Given the description of an element on the screen output the (x, y) to click on. 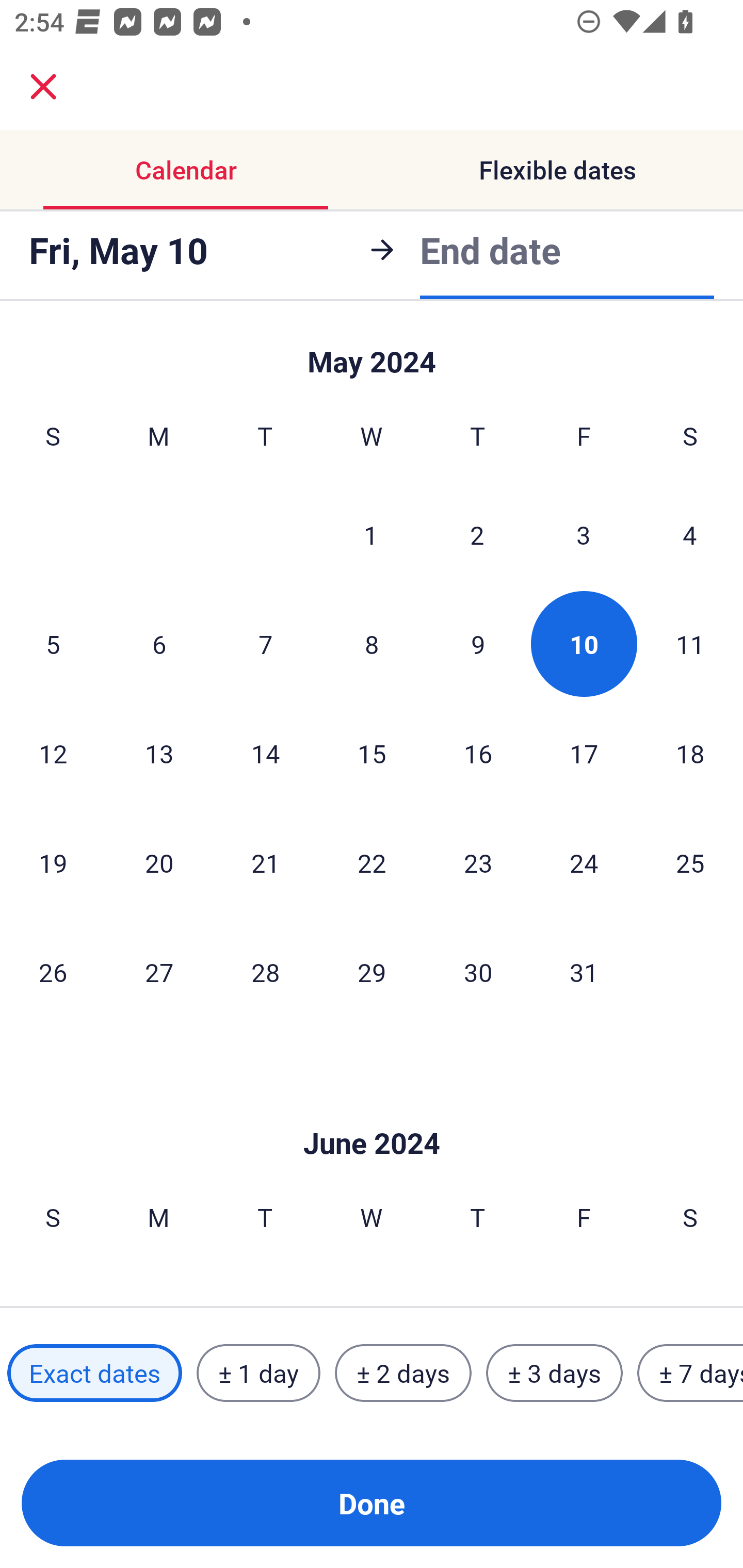
close. (43, 86)
Flexible dates (557, 170)
End date (489, 247)
Skip to Done (371, 352)
1 Wednesday, May 1, 2024 (371, 534)
2 Thursday, May 2, 2024 (477, 534)
3 Friday, May 3, 2024 (583, 534)
4 Saturday, May 4, 2024 (689, 534)
5 Sunday, May 5, 2024 (53, 643)
6 Monday, May 6, 2024 (159, 643)
7 Tuesday, May 7, 2024 (265, 643)
8 Wednesday, May 8, 2024 (371, 643)
9 Thursday, May 9, 2024 (477, 643)
11 Saturday, May 11, 2024 (690, 643)
12 Sunday, May 12, 2024 (53, 752)
13 Monday, May 13, 2024 (159, 752)
14 Tuesday, May 14, 2024 (265, 752)
15 Wednesday, May 15, 2024 (371, 752)
16 Thursday, May 16, 2024 (477, 752)
17 Friday, May 17, 2024 (584, 752)
18 Saturday, May 18, 2024 (690, 752)
19 Sunday, May 19, 2024 (53, 862)
20 Monday, May 20, 2024 (159, 862)
21 Tuesday, May 21, 2024 (265, 862)
22 Wednesday, May 22, 2024 (371, 862)
23 Thursday, May 23, 2024 (477, 862)
24 Friday, May 24, 2024 (584, 862)
25 Saturday, May 25, 2024 (690, 862)
26 Sunday, May 26, 2024 (53, 971)
27 Monday, May 27, 2024 (159, 971)
28 Tuesday, May 28, 2024 (265, 971)
29 Wednesday, May 29, 2024 (371, 971)
30 Thursday, May 30, 2024 (477, 971)
31 Friday, May 31, 2024 (584, 971)
Skip to Done (371, 1112)
Exact dates (94, 1372)
± 1 day (258, 1372)
± 2 days (403, 1372)
± 3 days (553, 1372)
± 7 days (690, 1372)
Done (371, 1502)
